Given the description of an element on the screen output the (x, y) to click on. 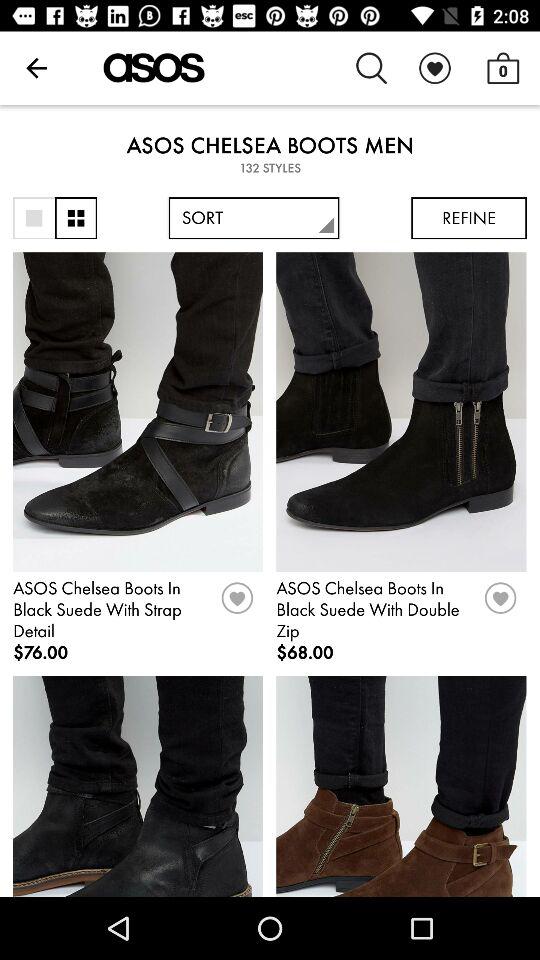
open icon next to refine item (253, 218)
